Given the description of an element on the screen output the (x, y) to click on. 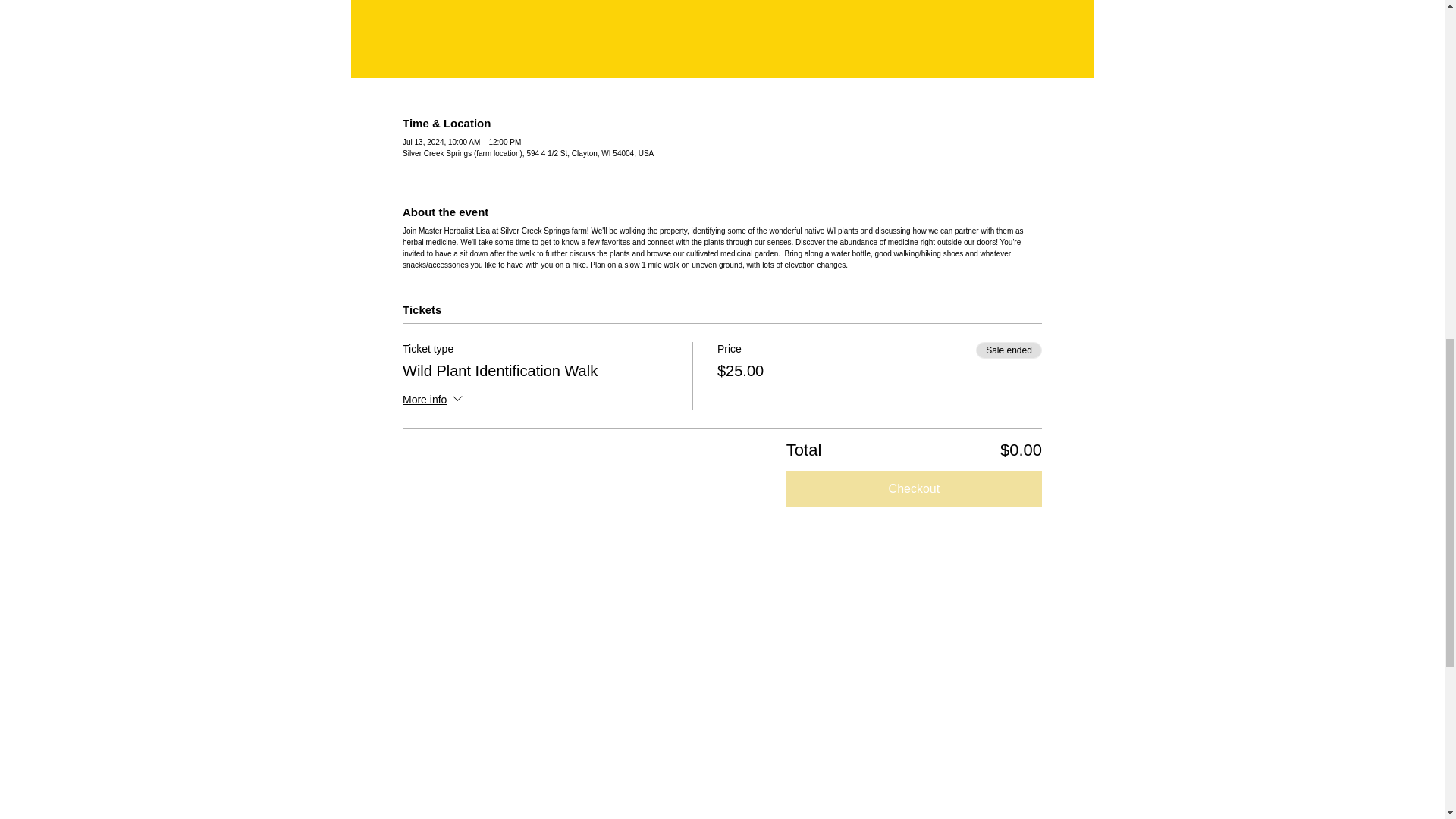
More info (434, 400)
Checkout (914, 488)
